Given the description of an element on the screen output the (x, y) to click on. 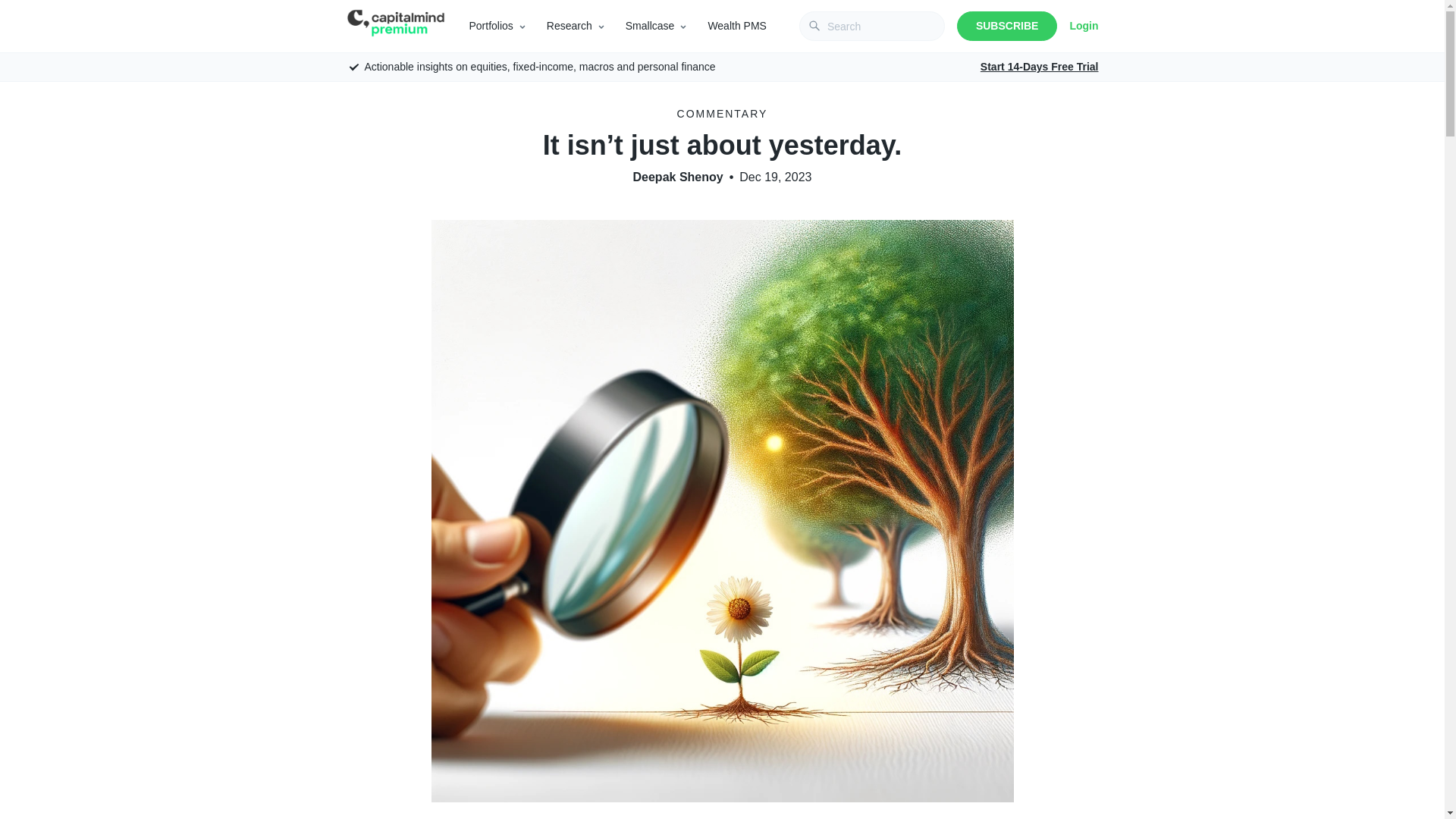
Search (21, 7)
Smallcase (650, 26)
Research (569, 26)
Login (1082, 26)
Portfolios (490, 26)
Wealth PMS (737, 25)
Posts by Deepak Shenoy (678, 177)
SUBSCRIBE (1006, 25)
